Given the description of an element on the screen output the (x, y) to click on. 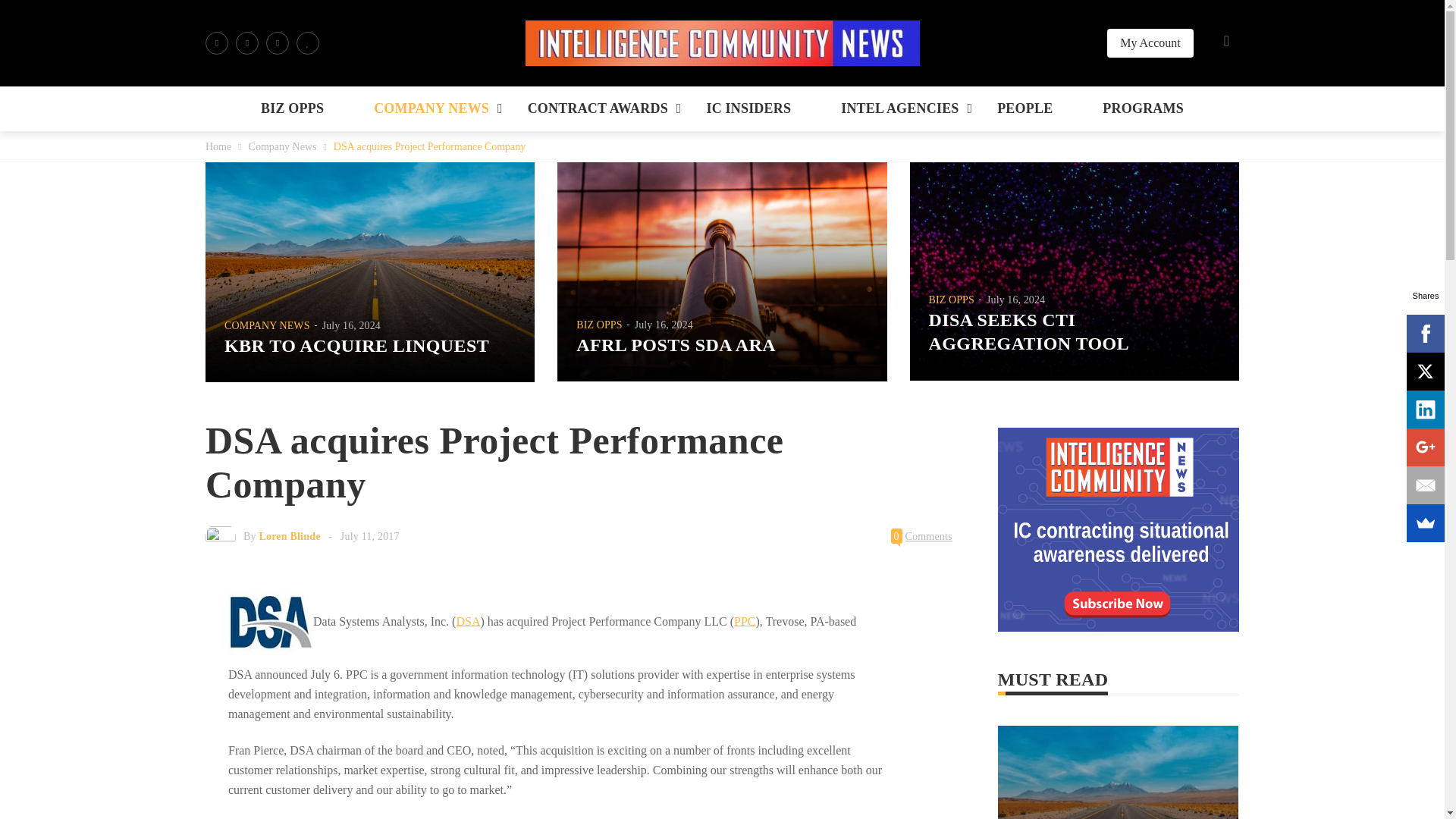
Home (218, 146)
INTEL AGENCIES (899, 108)
My Account (1149, 42)
PROGRAMS (1142, 108)
Posts by Loren Blinde (289, 536)
Home (218, 146)
COMPANY NEWS (431, 108)
CONTRACT AWARDS (597, 108)
PEOPLE (1024, 108)
Company News (282, 146)
Company News (282, 146)
IC INSIDERS (748, 108)
BIZ OPPS (292, 108)
